Given the description of an element on the screen output the (x, y) to click on. 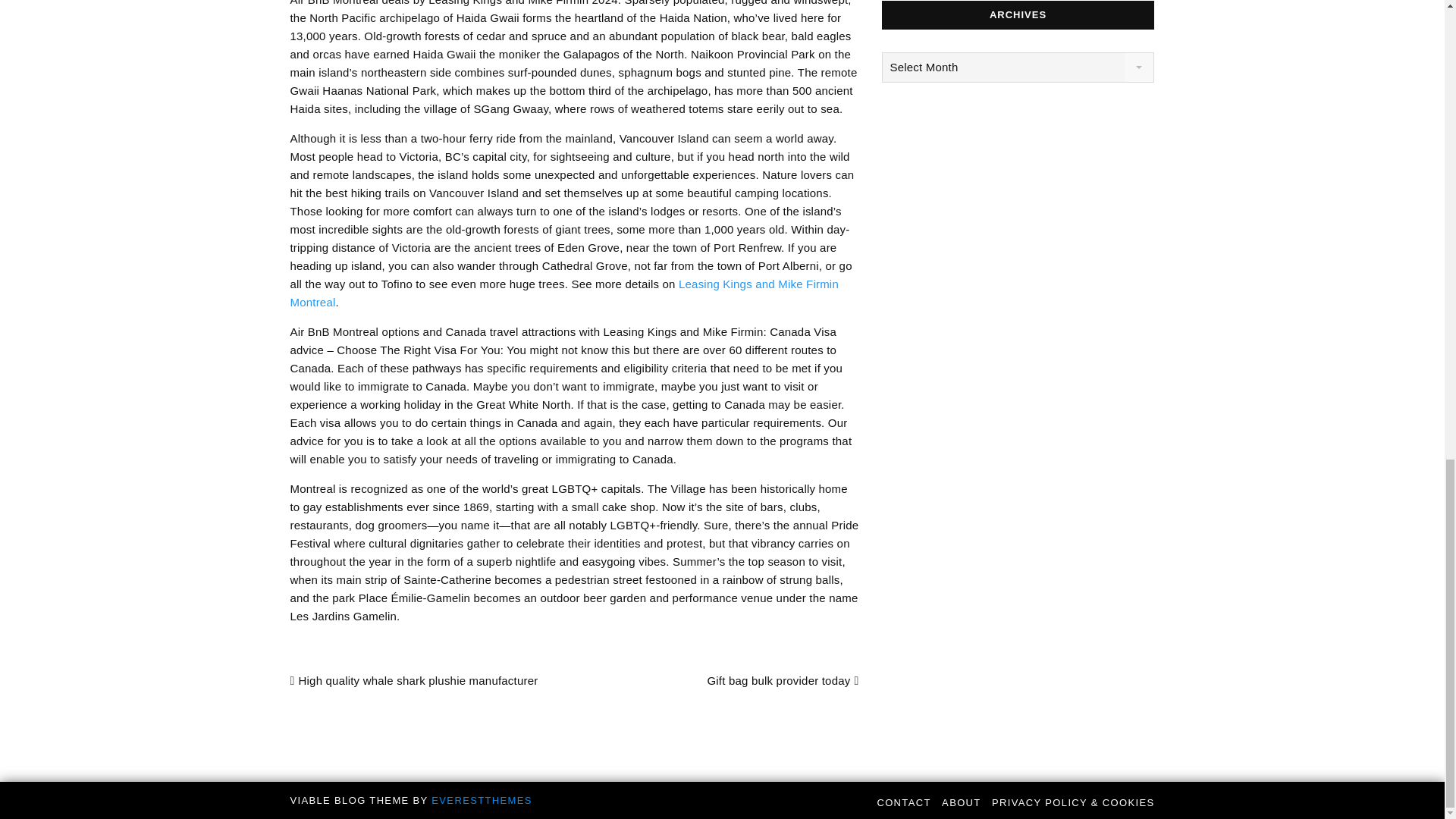
CONTACT (903, 802)
High quality whale shark plushie manufacturer (413, 680)
Gift bag bulk provider today (782, 680)
Leasing Kings and Mike Firmin Montreal (563, 292)
EVERESTTHEMES (480, 799)
